Given the description of an element on the screen output the (x, y) to click on. 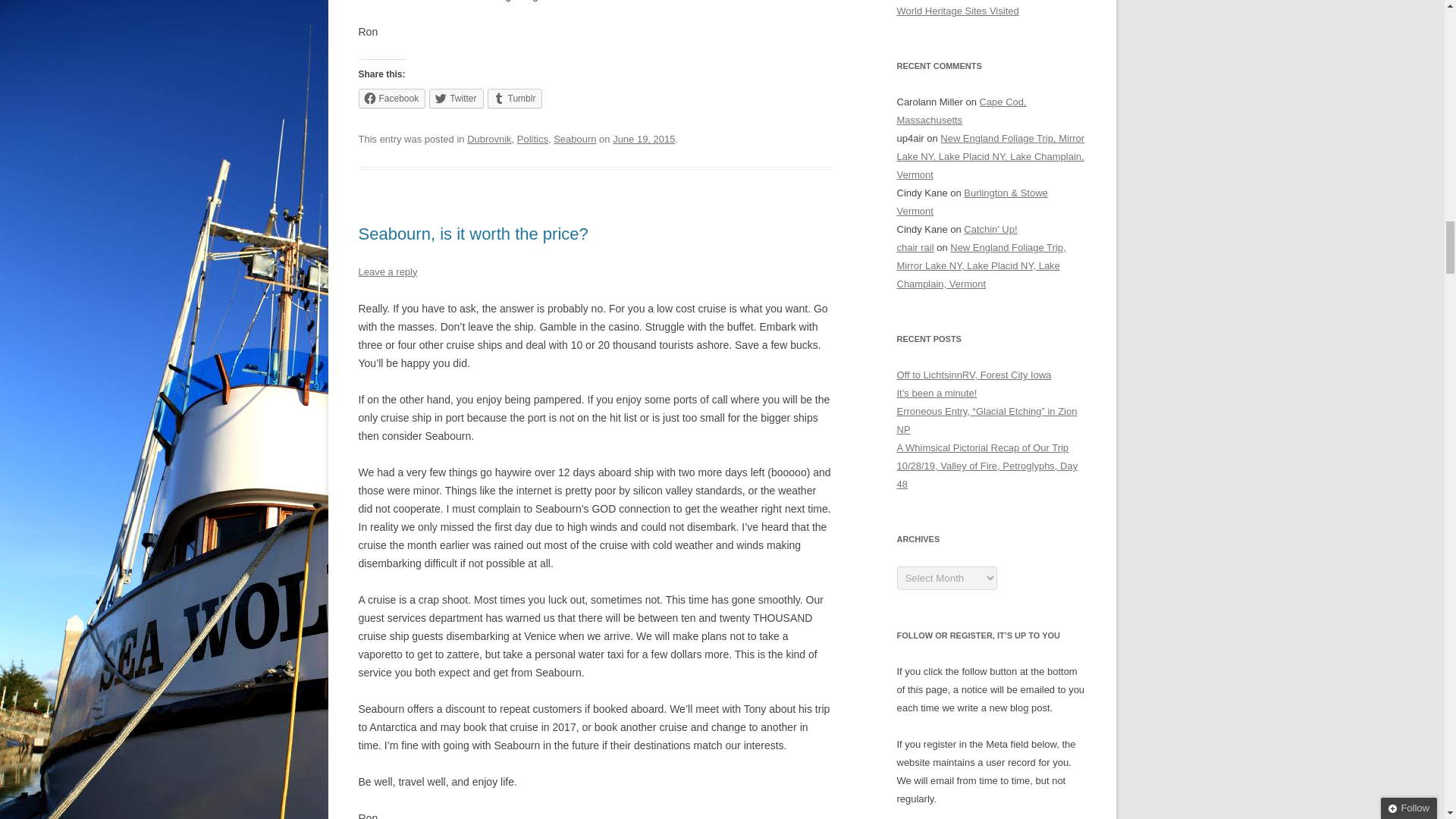
Dubrovnik (489, 138)
Click to share on Tumblr (515, 98)
Seabourn (574, 138)
Tumblr (515, 98)
Facebook (391, 98)
June 19, 2015 (643, 138)
Seabourn, is it worth the price? (473, 233)
Click to share on Facebook (391, 98)
Leave a reply (387, 271)
Click to share on Twitter (456, 98)
Politics (532, 138)
Twitter (456, 98)
5:06 am (643, 138)
